Given the description of an element on the screen output the (x, y) to click on. 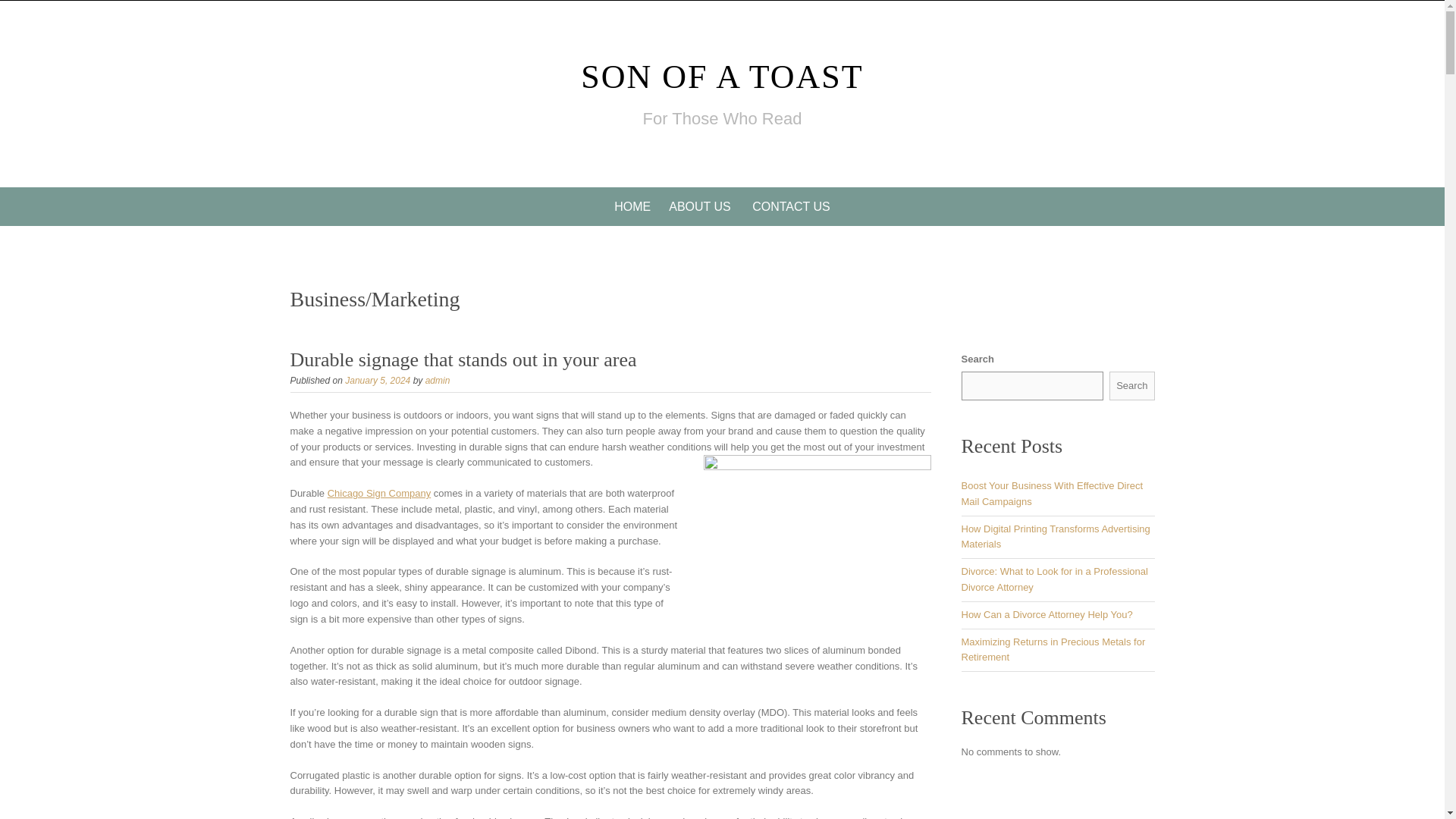
Son of a Toast For Those Who Read (721, 76)
Chicago Sign Company (378, 492)
ABOUT US (699, 206)
Durable signage that stands out in your area (462, 359)
Durable signage that stands out in your area (462, 359)
admin (437, 380)
CONTACT US (791, 206)
January 5, 2024 (377, 380)
HOME (632, 206)
SON OF A TOAST (721, 76)
